Given the description of an element on the screen output the (x, y) to click on. 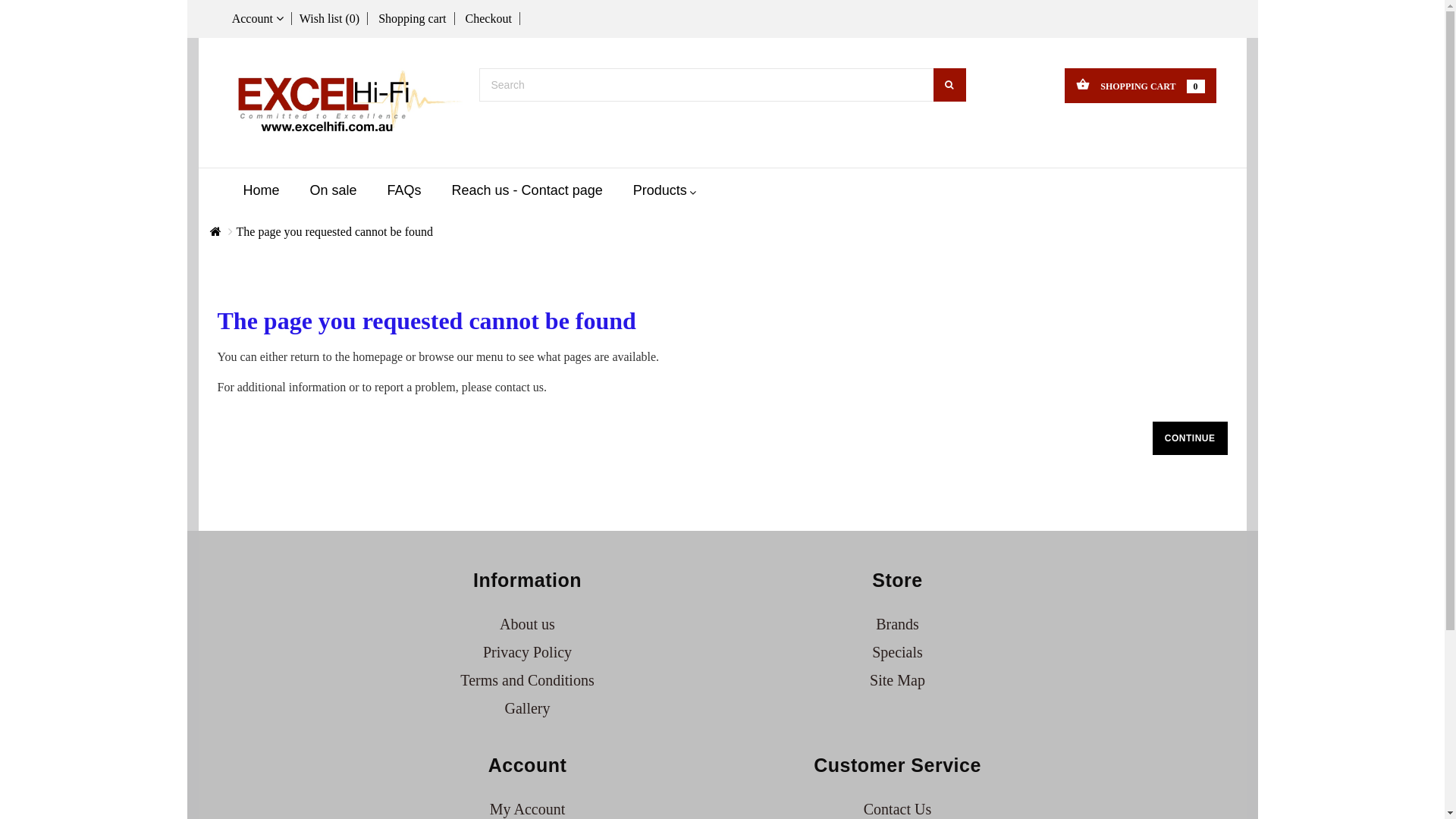
Excel HiFi Pty Ltd Element type: hover (347, 102)
On sale Element type: text (333, 190)
Reach us - Contact page Element type: text (527, 190)
Checkout Element type: text (489, 18)
Site Map Element type: text (897, 679)
 Account Element type: text (256, 18)
My Account Element type: text (526, 808)
Wish list (0) Element type: text (329, 18)
Terms and Conditions Element type: text (526, 679)
Home Element type: text (260, 190)
Products Element type: text (660, 190)
Specials Element type: text (897, 651)
Shopping cart Element type: text (412, 18)
SHOPPING CART 0 Element type: text (1140, 84)
Contact Us Element type: text (897, 808)
FAQs Element type: text (404, 190)
Gallery Element type: text (527, 707)
Privacy Policy Element type: text (527, 651)
The page you requested cannot be found Element type: text (334, 231)
Brands Element type: text (897, 623)
CONTINUE Element type: text (1189, 438)
About us Element type: text (527, 623)
